Given the description of an element on the screen output the (x, y) to click on. 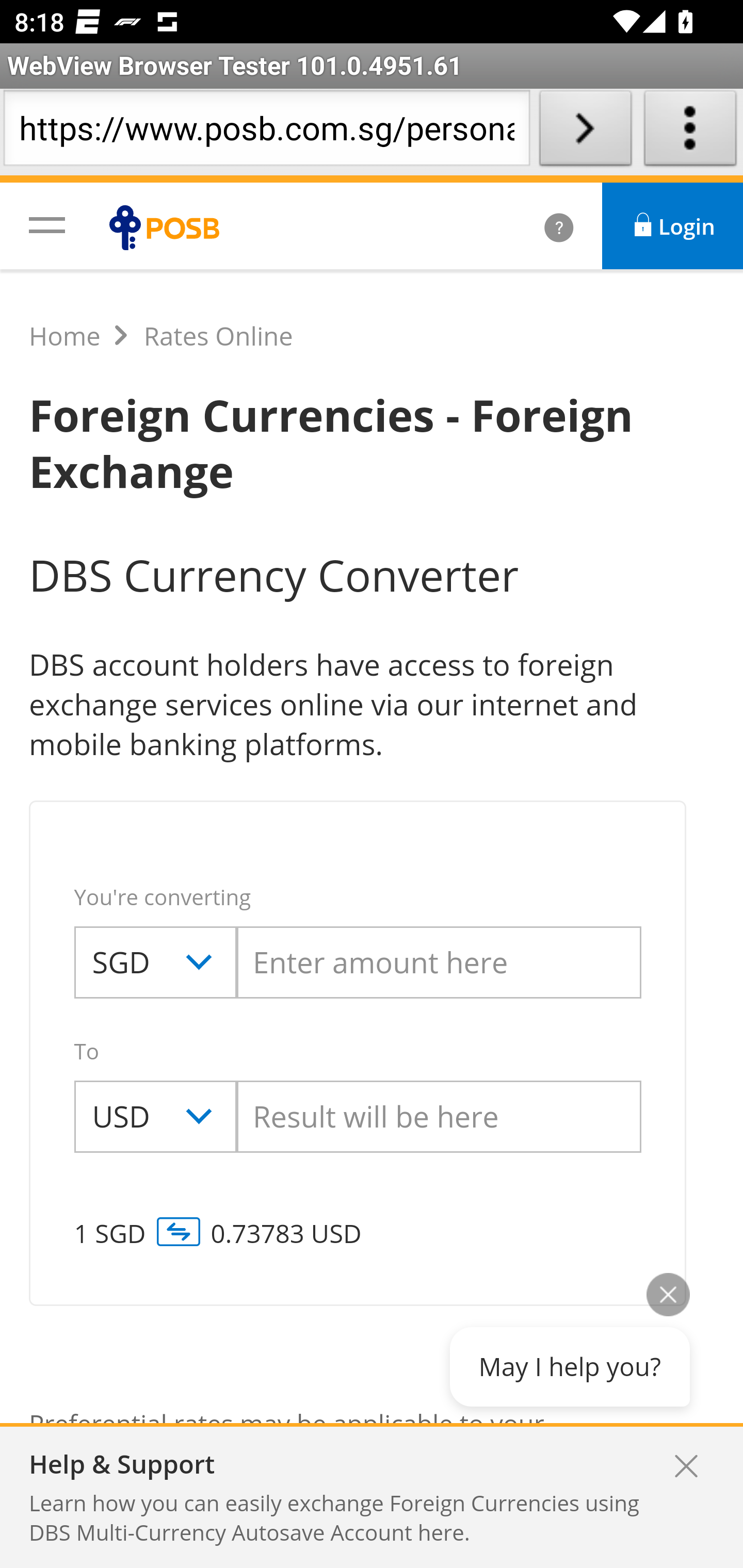
Load URL (585, 132)
About WebView (690, 132)
javascript:void(0); (46, 223)
POSB logo (169, 226)
ﱲ (537, 226)
Login  Login (673, 225)
Home (64, 335)
Rates Online (218, 335)
SGD (155, 962)
USD (155, 1116)
